Given the description of an element on the screen output the (x, y) to click on. 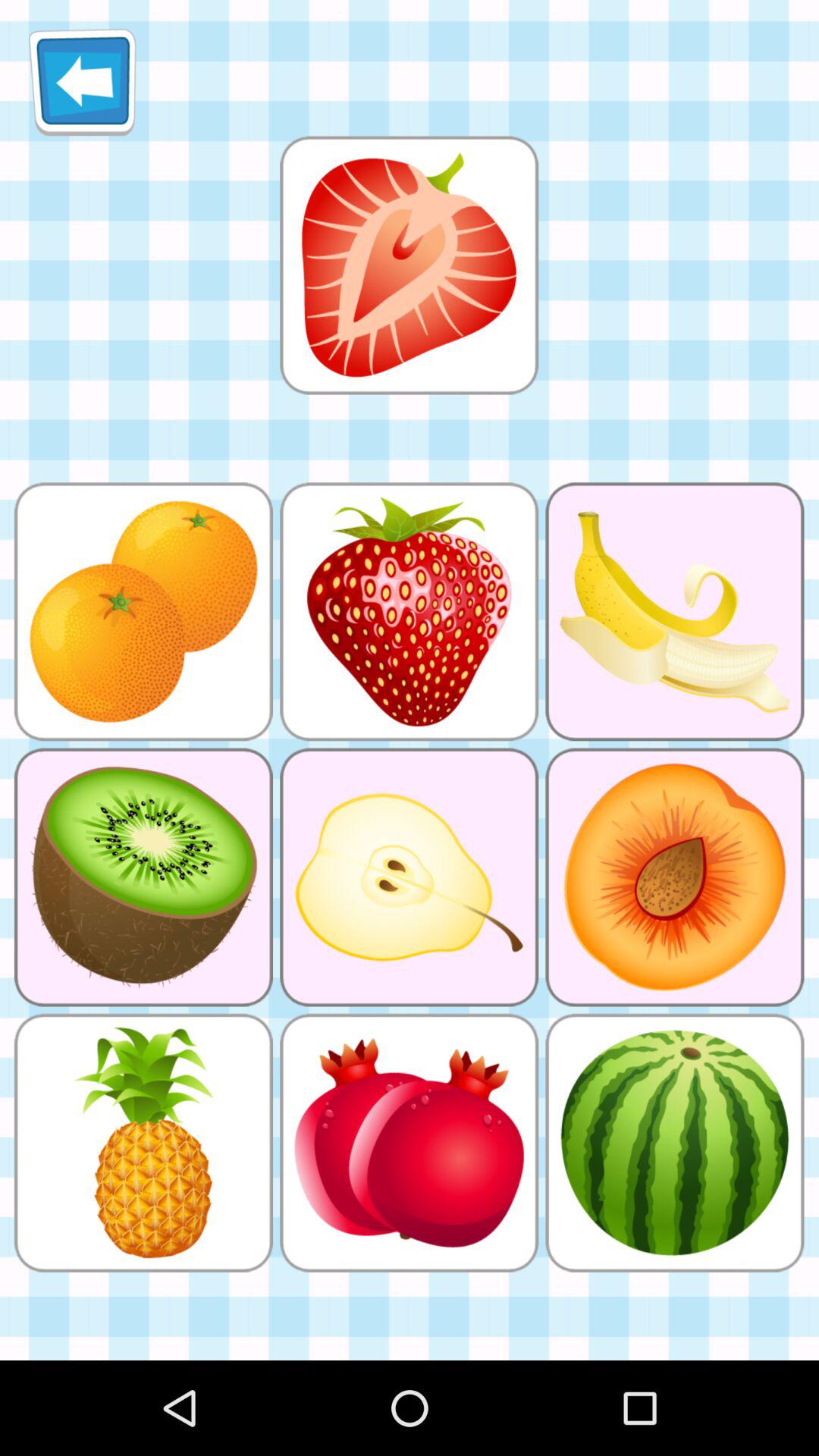
select picture (409, 265)
